Given the description of an element on the screen output the (x, y) to click on. 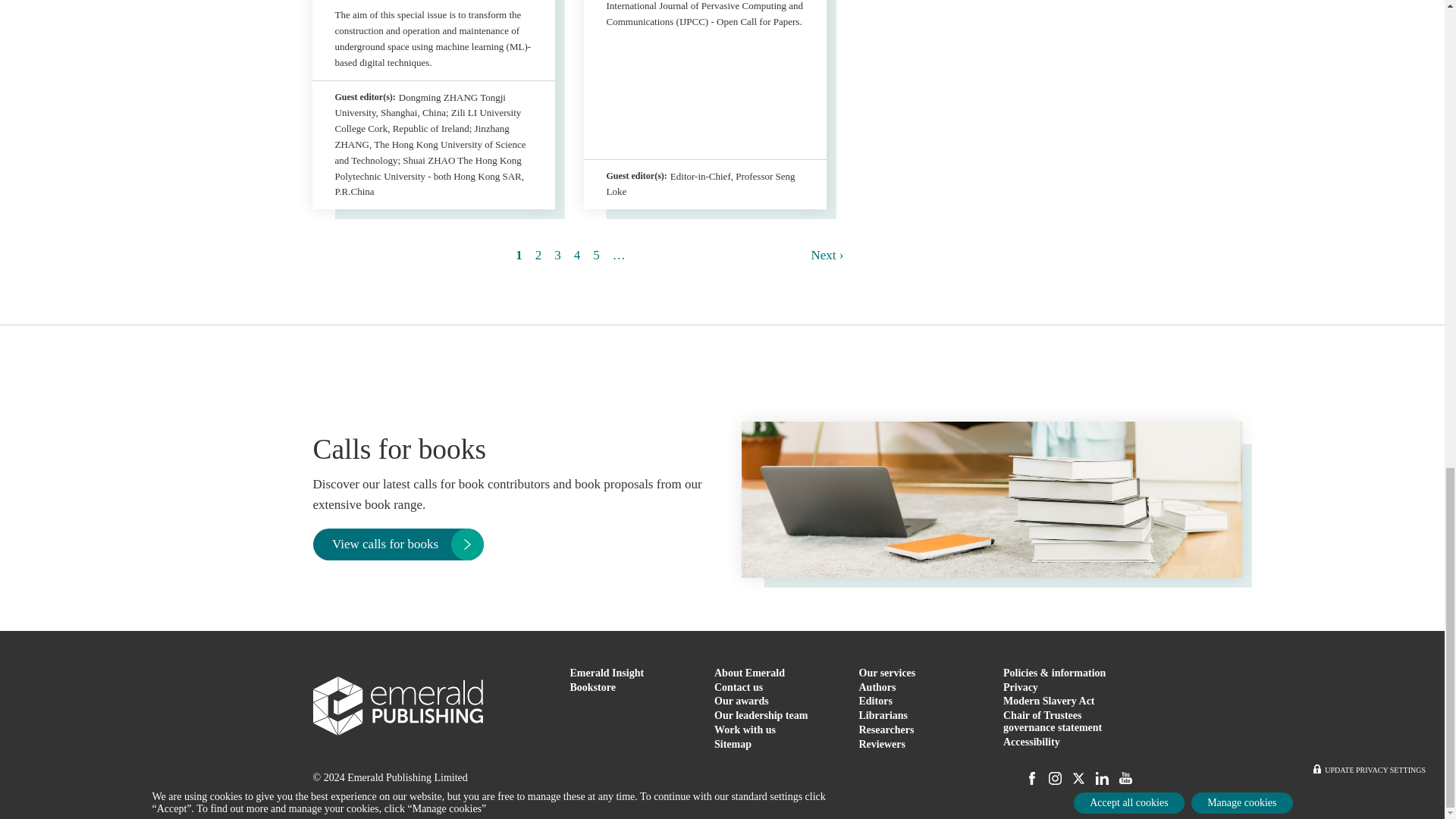
Policies (1054, 672)
Contact Emerald (738, 686)
Go to next page (827, 255)
Editors (875, 700)
Reviewers (881, 744)
Modern Slavery Act (1048, 700)
Privacy notice (1020, 686)
About us page (749, 672)
Go to last page (619, 255)
Download PDF statement (1052, 721)
Researchers (886, 729)
Authors (877, 686)
